Given the description of an element on the screen output the (x, y) to click on. 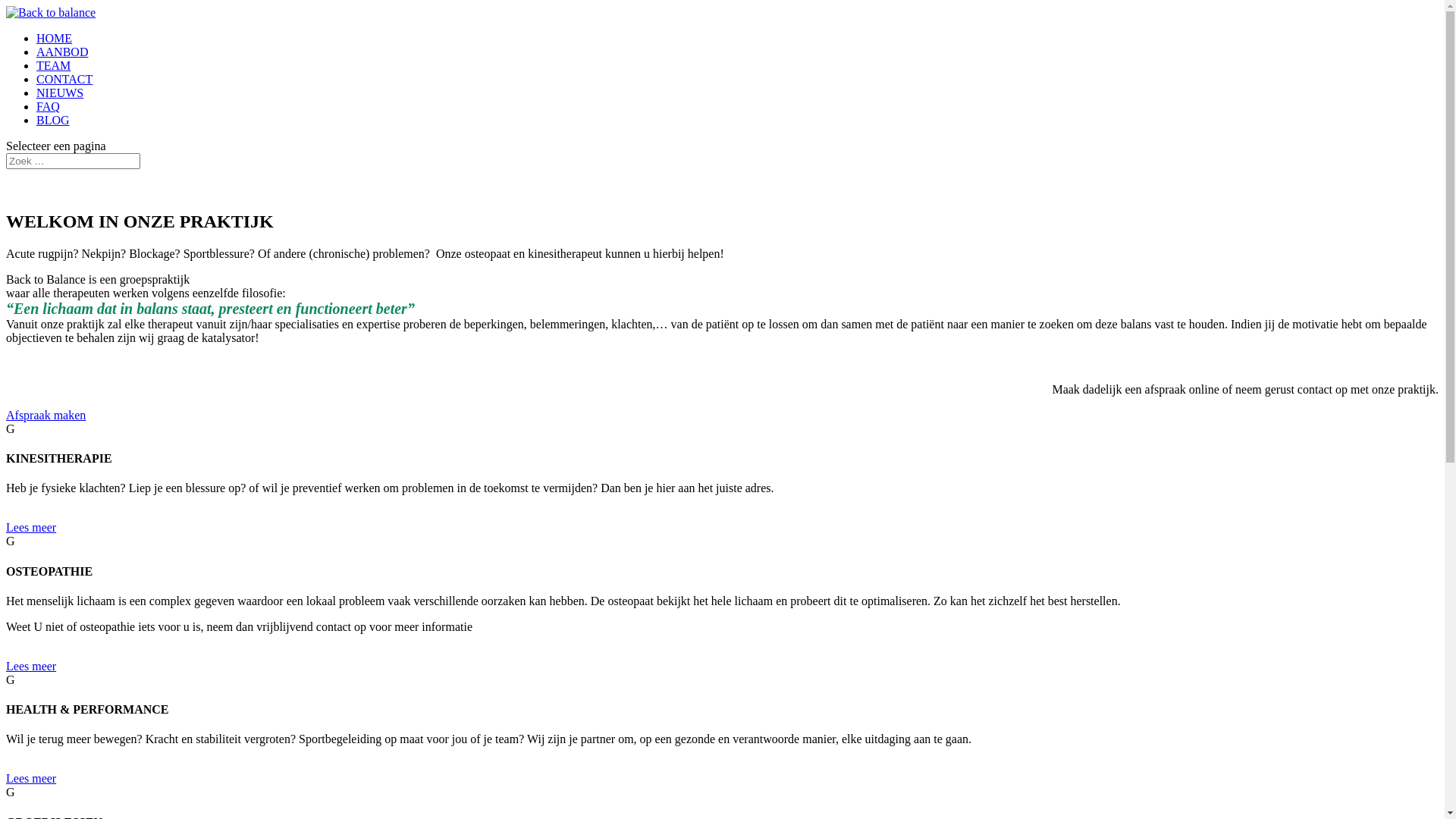
FAQ Element type: text (47, 106)
NIEUWS Element type: text (59, 92)
BLOG Element type: text (52, 119)
HOME Element type: text (54, 37)
Lees meer Element type: text (31, 526)
CONTACT Element type: text (64, 78)
Afspraak maken Element type: text (45, 414)
AANBOD Element type: text (61, 51)
Zoek naar: Element type: hover (73, 161)
Lees meer Element type: text (31, 777)
TEAM Element type: text (53, 65)
Lees meer Element type: text (31, 665)
